Given the description of an element on the screen output the (x, y) to click on. 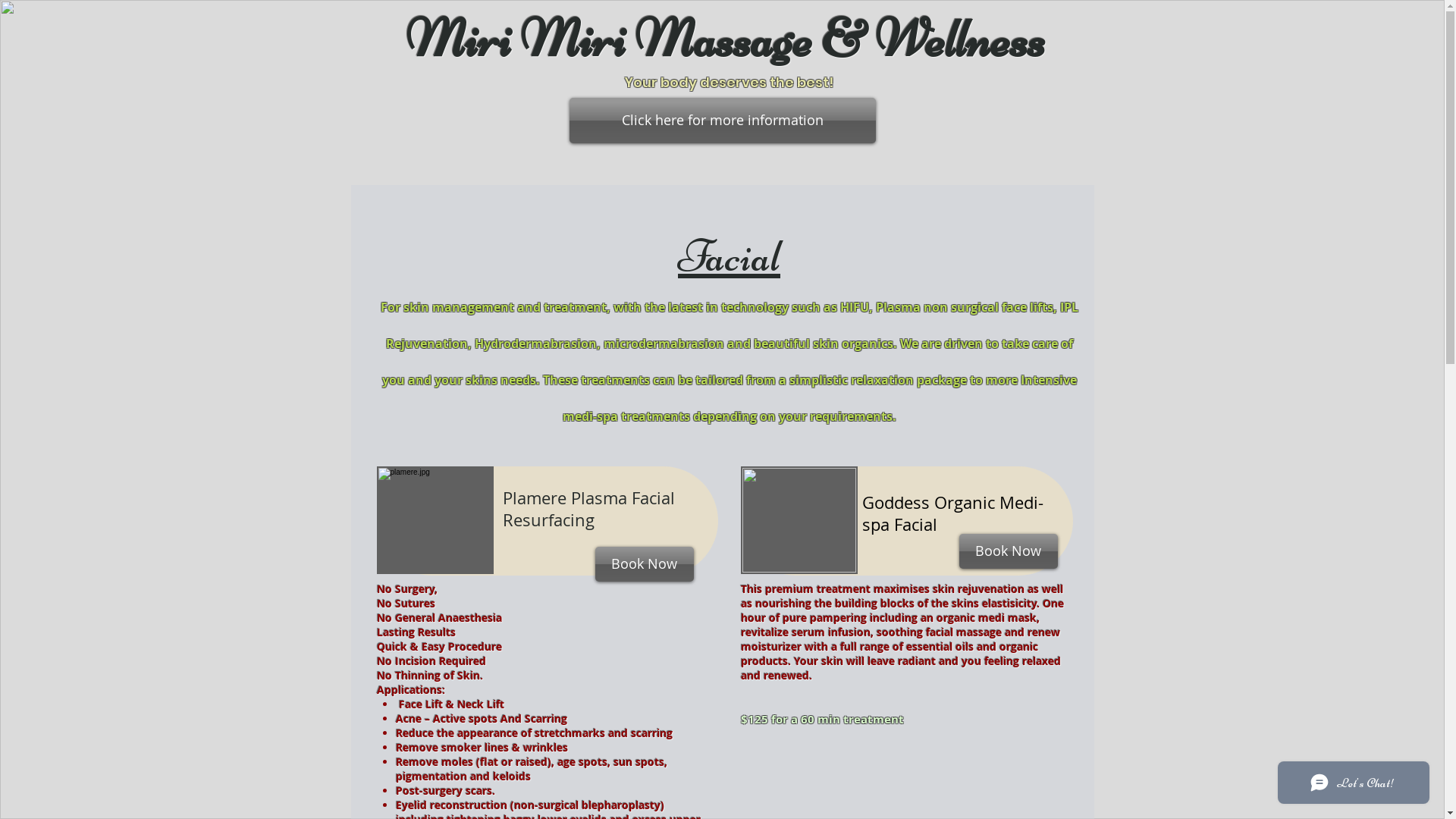
Book Now Element type: text (1007, 550)
goddess organic medi.jpg Element type: hover (798, 520)
Click here for more information Element type: text (721, 120)
goddess organic medi.jpg Element type: hover (434, 520)
Book Now Element type: text (643, 563)
